Given the description of an element on the screen output the (x, y) to click on. 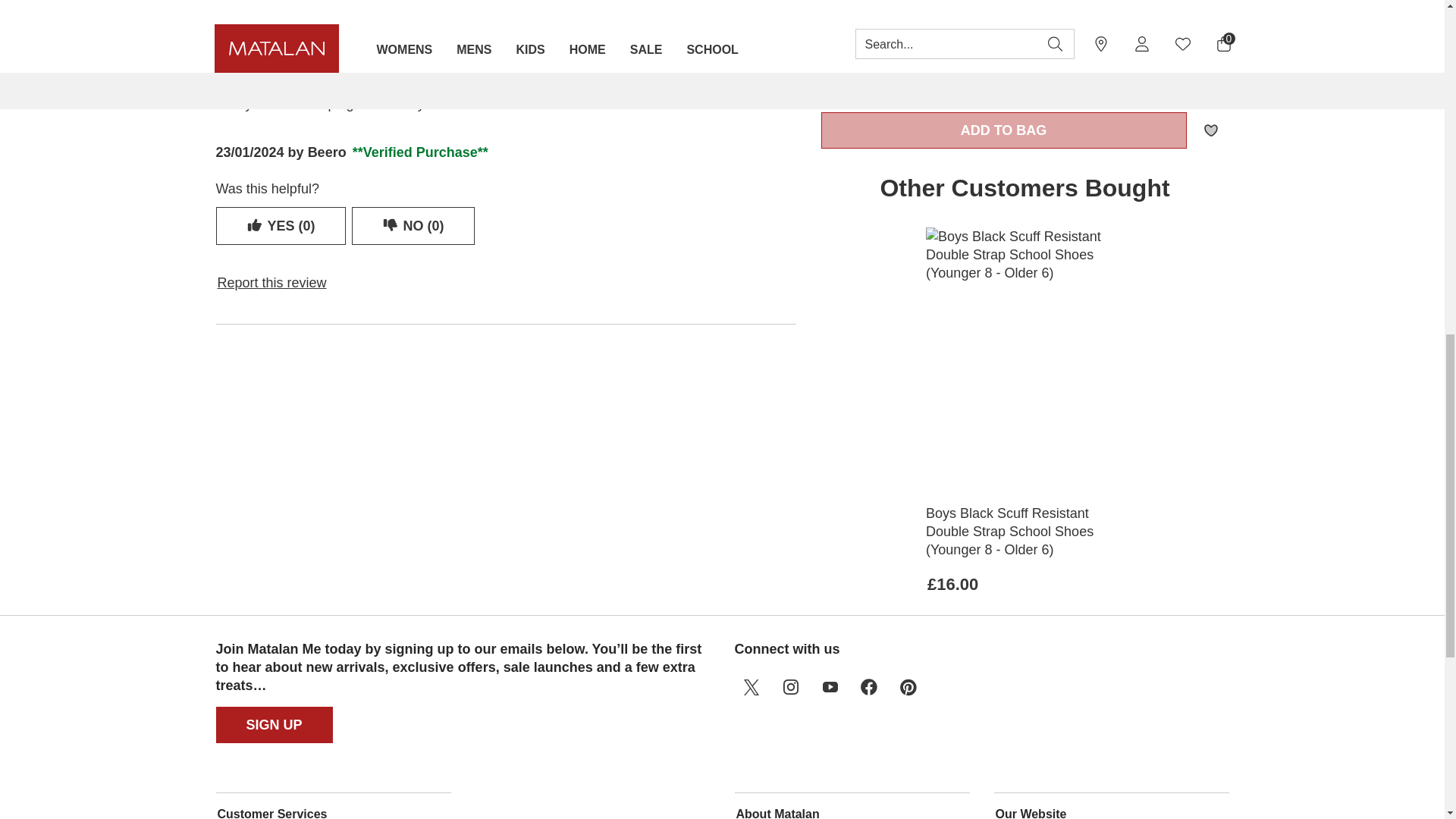
Select a size (1024, 10)
instagram (789, 686)
pinterest (907, 686)
youtube (828, 686)
facebook (868, 686)
1 (881, 75)
twitter (750, 686)
Report this review (271, 282)
SIGN UP (273, 724)
ADD TO BAG (1004, 130)
